Given the description of an element on the screen output the (x, y) to click on. 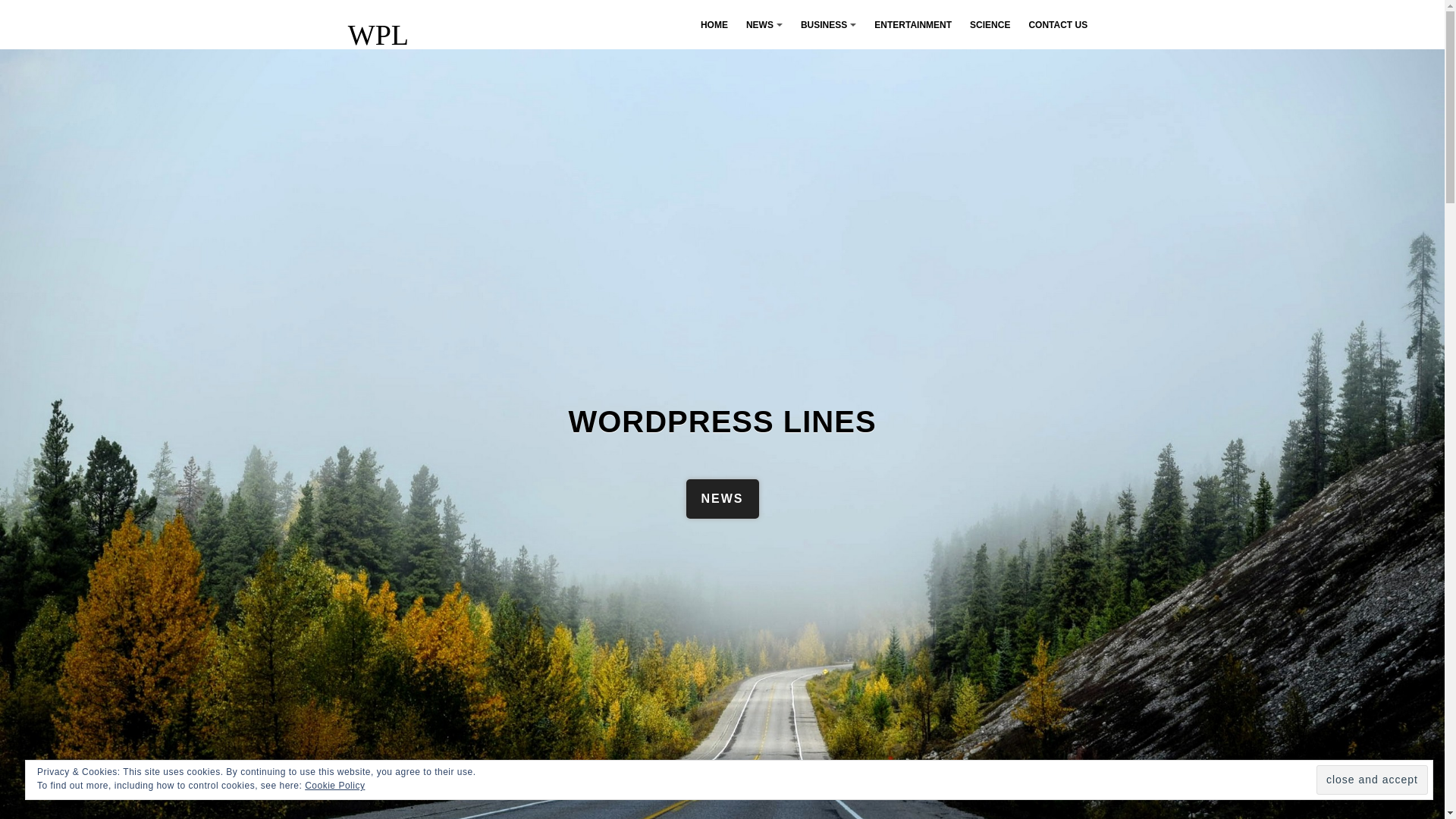
SCIENCE (989, 24)
CONTACT US (1057, 24)
WPL (378, 34)
ENTERTAINMENT (912, 24)
close and accept (1372, 779)
HOME (713, 24)
NEWS (721, 498)
